Given the description of an element on the screen output the (x, y) to click on. 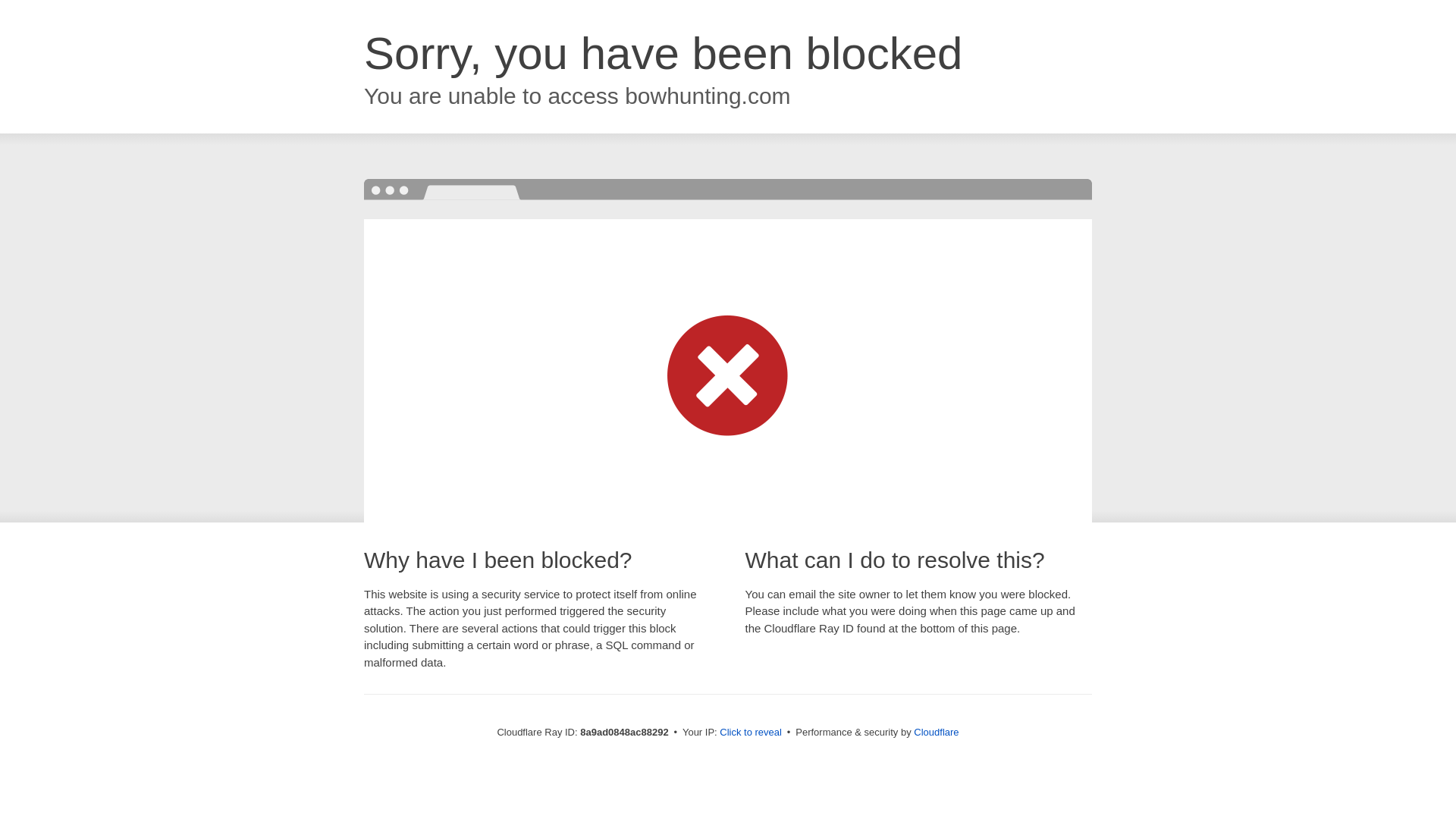
Click to reveal (750, 732)
Cloudflare (936, 731)
